Given the description of an element on the screen output the (x, y) to click on. 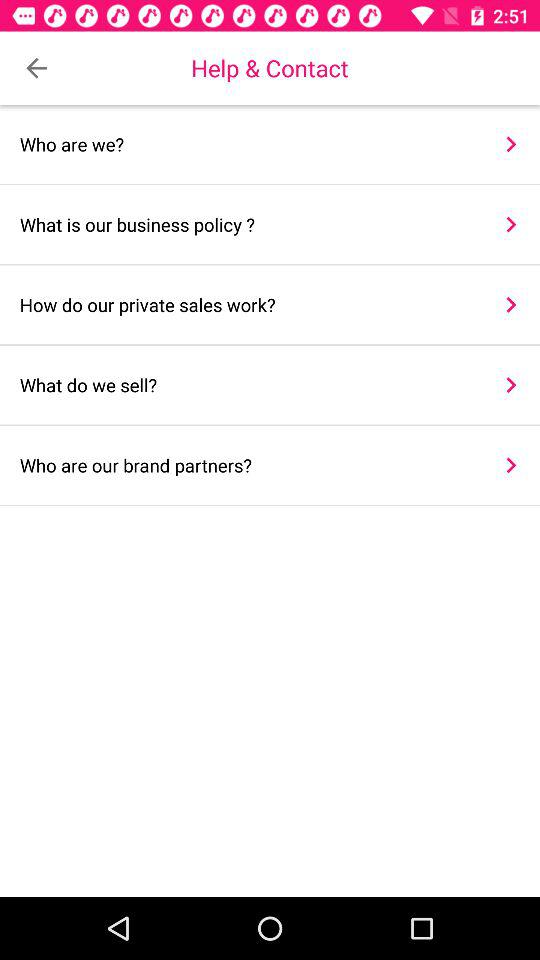
select the icon to the right of the how do our icon (510, 304)
